Given the description of an element on the screen output the (x, y) to click on. 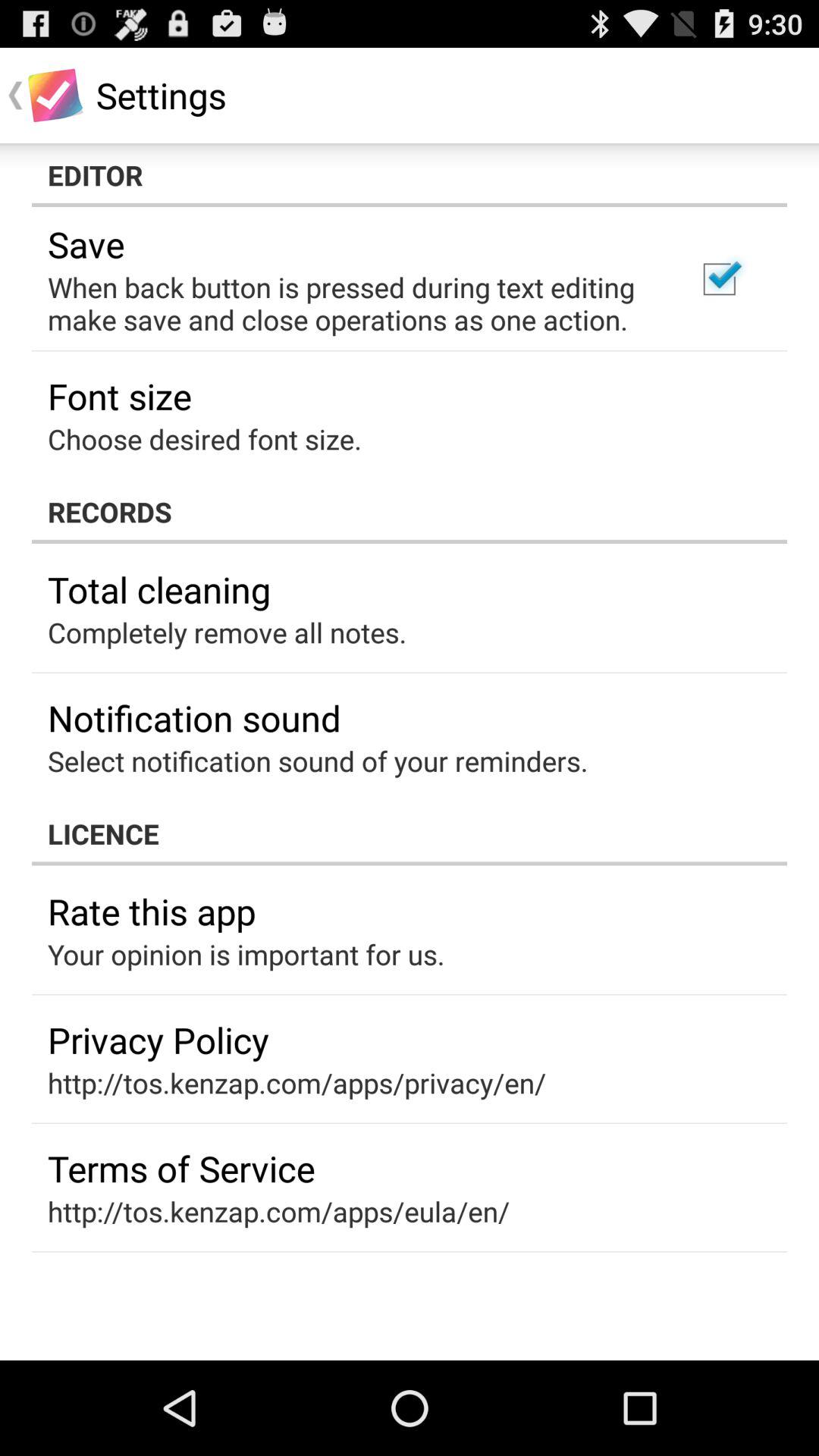
launch terms of service app (181, 1168)
